Given the description of an element on the screen output the (x, y) to click on. 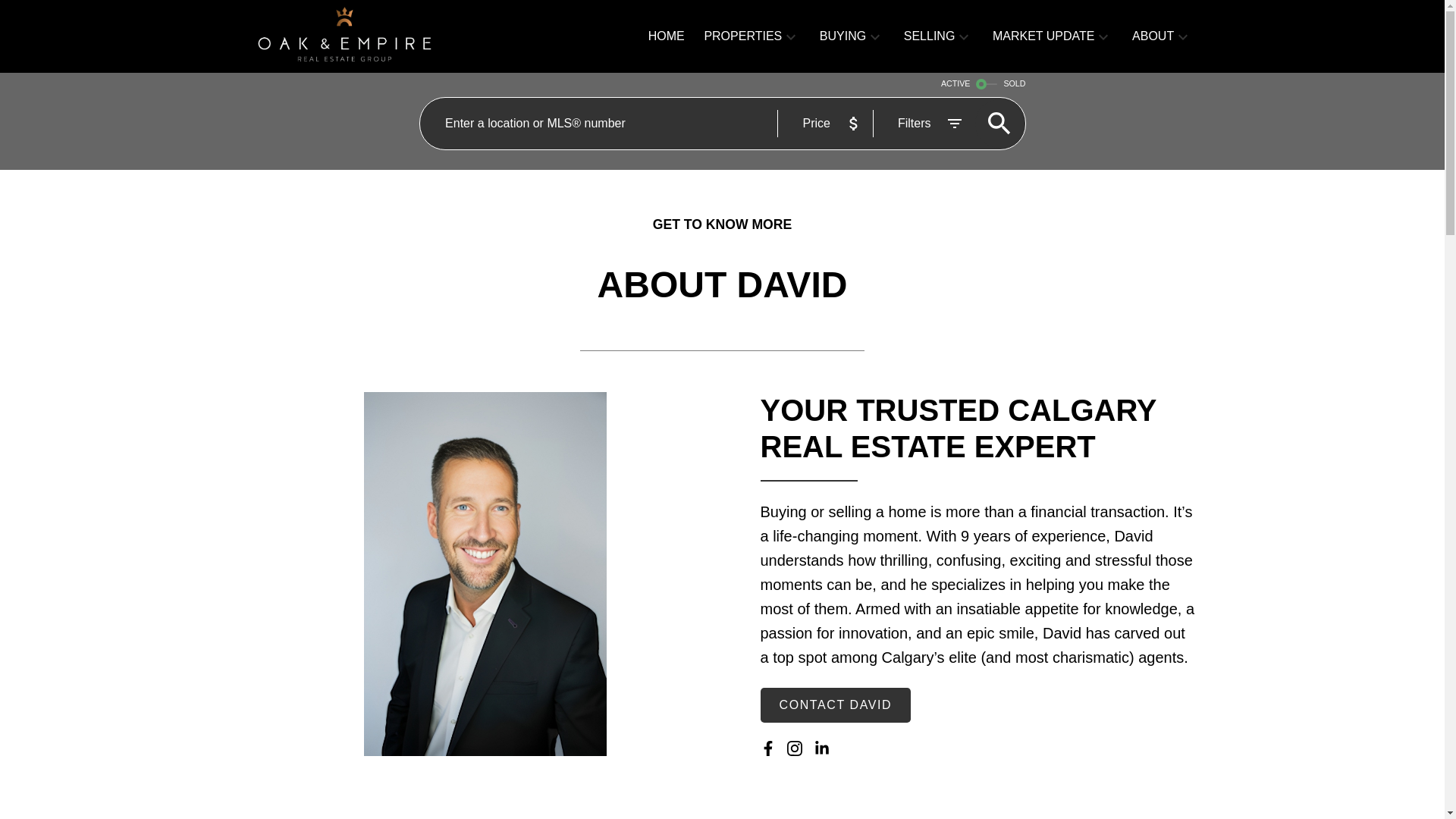
HOME (665, 35)
CONTACT DAVID (835, 704)
